Given the description of an element on the screen output the (x, y) to click on. 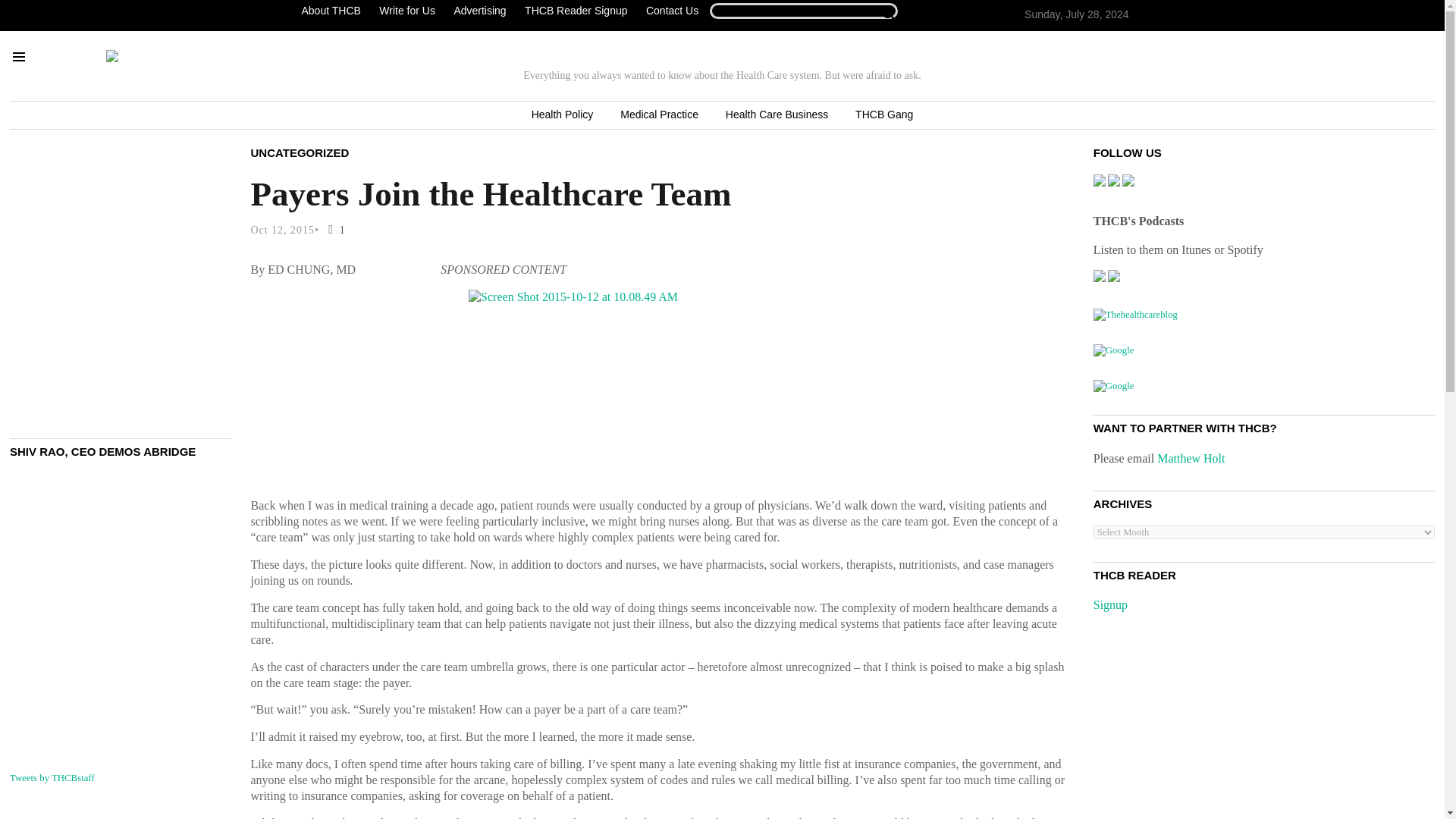
Tweets by THCBstaff (52, 777)
1 (333, 229)
UNCATEGORIZED (299, 152)
Contact Us (672, 10)
THCB Gang (883, 114)
Matthew Holt (1190, 458)
Health Policy (562, 114)
Write for Us (406, 10)
Advertising (479, 10)
Health Care Business (776, 114)
About THCB (334, 10)
Medical Practice (659, 114)
THCB Reader Signup (575, 10)
